Given the description of an element on the screen output the (x, y) to click on. 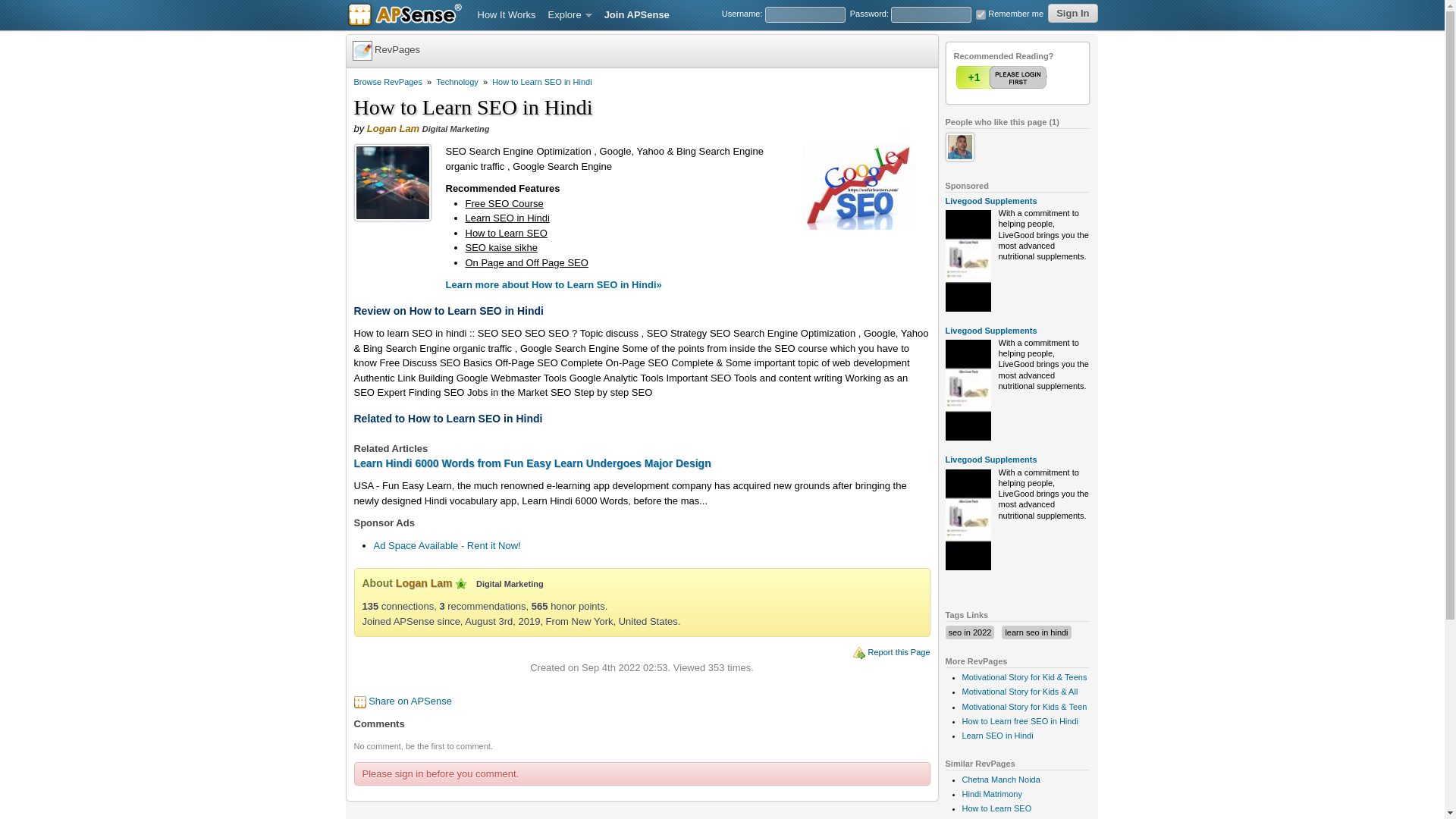
Senior (460, 583)
Share on APSense (409, 700)
Join APSense (636, 15)
How to Learn SEO in Hindi (541, 81)
Sign In (1072, 13)
Livegood Supplements (990, 459)
Vote Down (1031, 77)
Logan Lam (424, 582)
Technology (457, 81)
Share on APSense (409, 700)
